Given the description of an element on the screen output the (x, y) to click on. 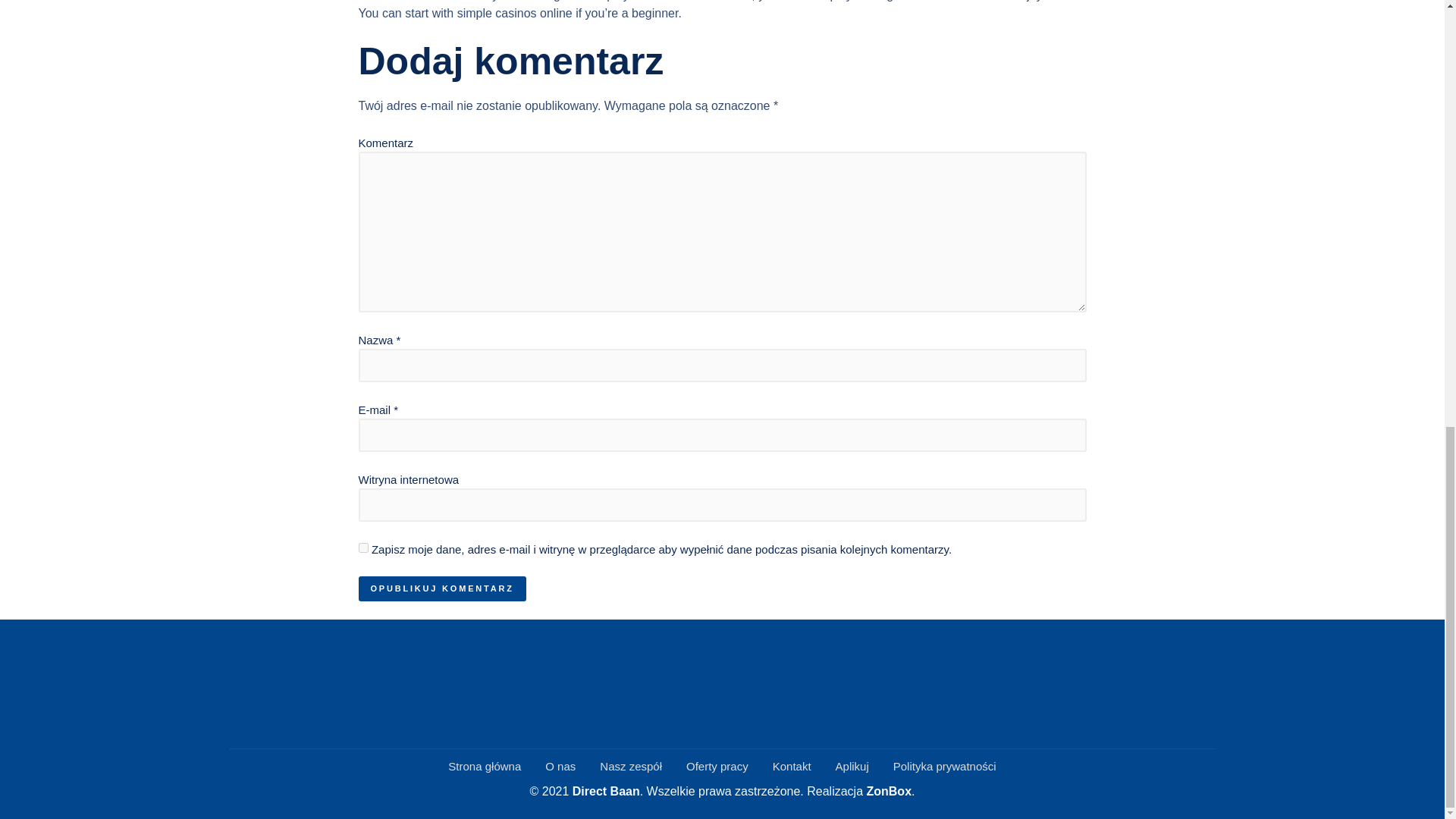
yes (363, 547)
Kontakt (791, 766)
Opublikuj komentarz (441, 588)
Opublikuj komentarz (441, 588)
O nas (559, 766)
Oferty pracy (716, 766)
ZonBox (888, 790)
Aplikuj (852, 766)
